Given the description of an element on the screen output the (x, y) to click on. 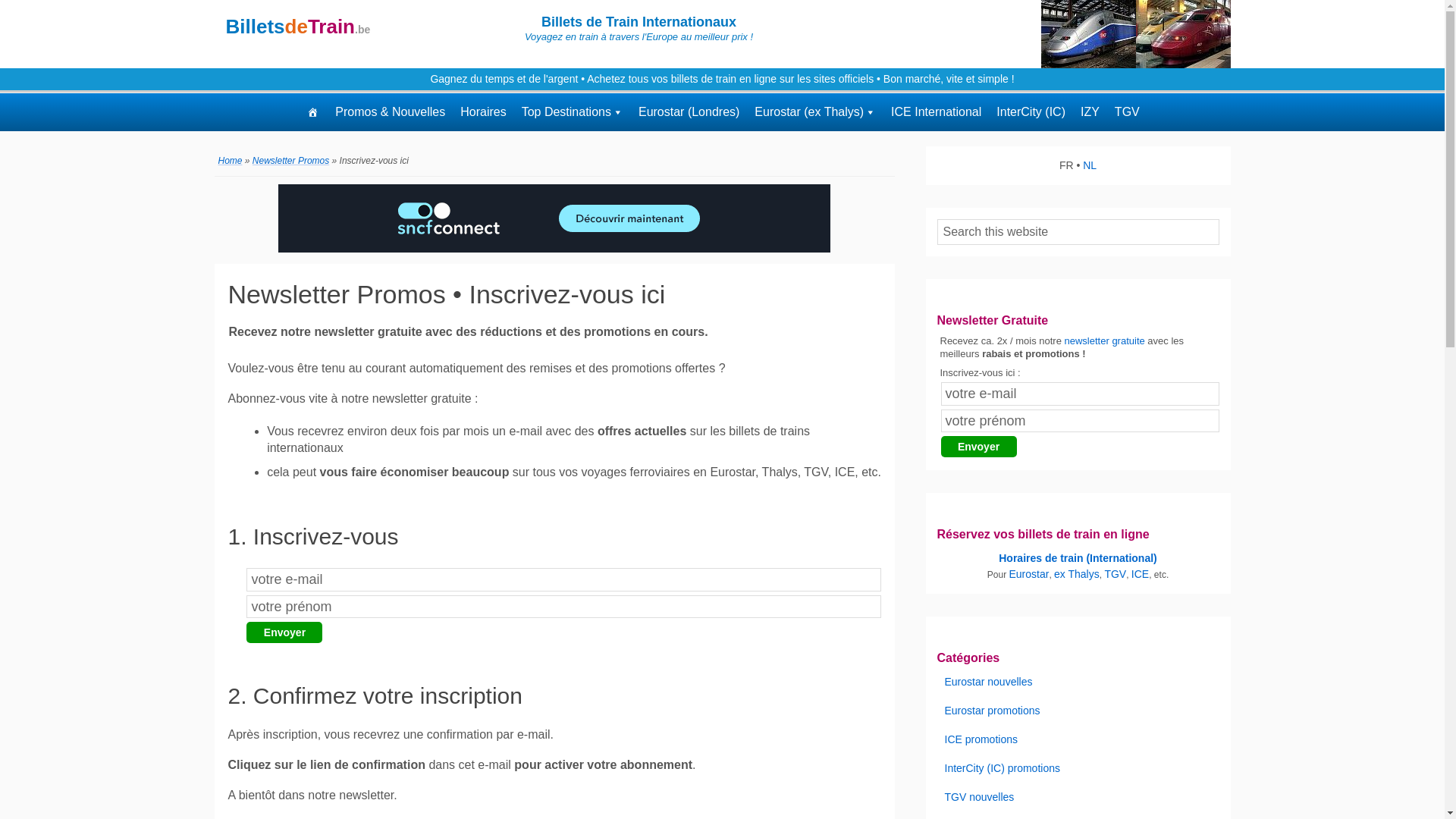
ICE International Element type: text (935, 112)
ex Thalys Element type: text (1076, 573)
Accueil Element type: hover (312, 112)
IZY Element type: text (1090, 112)
Eurostar Element type: text (1028, 573)
ICE promotions Element type: text (980, 739)
ICE Element type: text (1139, 573)
NL Element type: text (1089, 165)
Horaires de train (International) Element type: text (1077, 558)
Eurostar promotions Element type: text (992, 710)
InterCity (IC) promotions Element type: text (1002, 768)
Eurostar (Londres) Element type: text (688, 112)
BilletsdeTrain.be Element type: text (297, 26)
Promos & Nouvelles Element type: text (389, 112)
Home Element type: text (230, 160)
TGV Element type: text (1127, 112)
Eurostar nouvelles Element type: text (988, 681)
Top Destinations Element type: text (572, 112)
Newsletter Promos Element type: text (290, 160)
Envoyer Element type: text (978, 446)
newsletter gratuite Element type: text (1104, 340)
Skip to primary navigation Element type: text (0, 0)
Search Element type: text (1217, 218)
TGV nouvelles Element type: text (979, 796)
Eurostar (ex Thalys) Element type: text (814, 112)
Envoyer Element type: text (284, 632)
TGV Element type: text (1115, 573)
Horaires Element type: text (482, 112)
InterCity (IC) Element type: text (1030, 112)
